Given the description of an element on the screen output the (x, y) to click on. 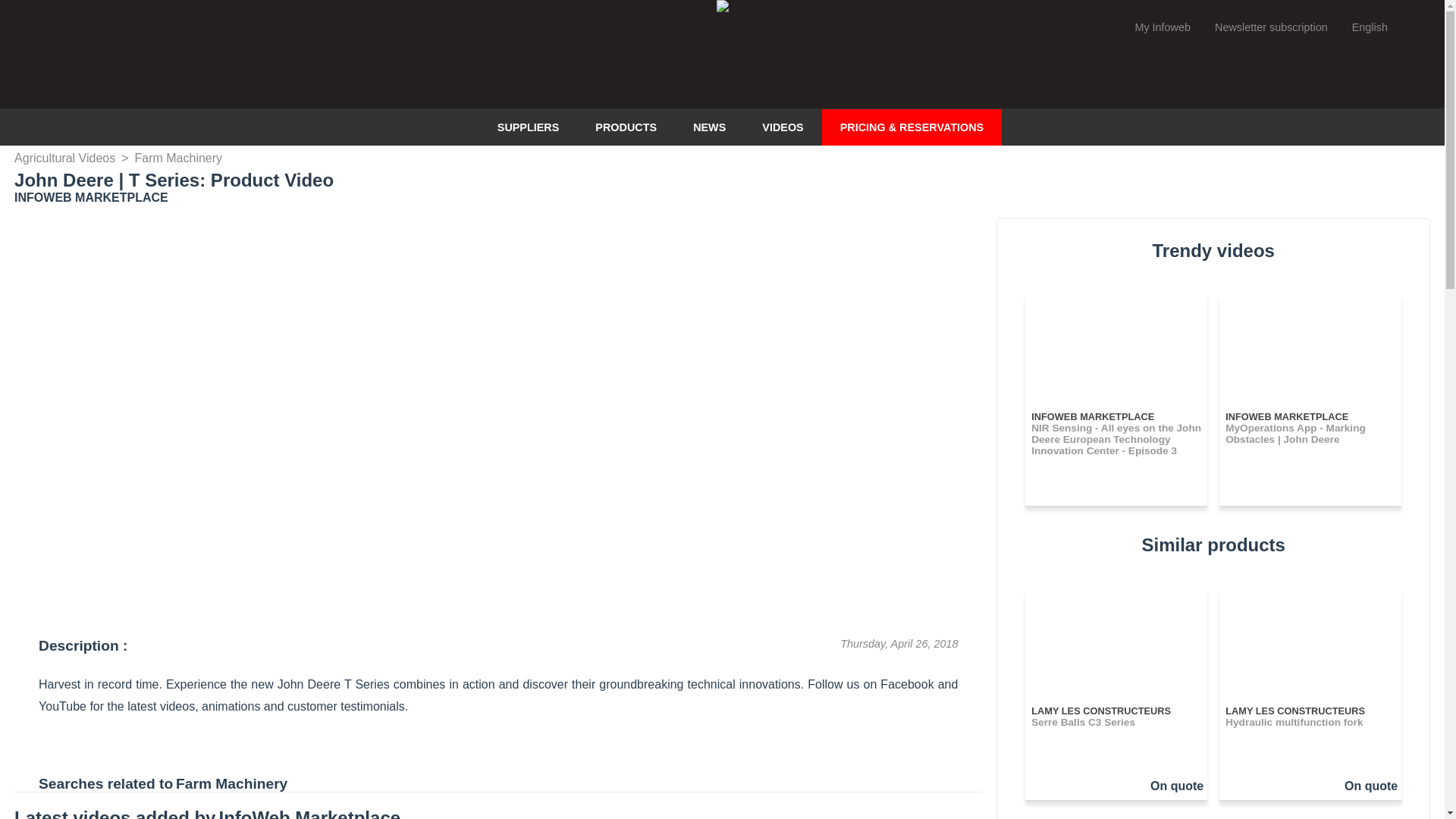
English (1385, 27)
International marketplaces (1385, 27)
Newsletter subscription (1270, 27)
My Infoweb (1162, 27)
Newsletter subscription (1270, 27)
My Infoweb (1162, 27)
